Given the description of an element on the screen output the (x, y) to click on. 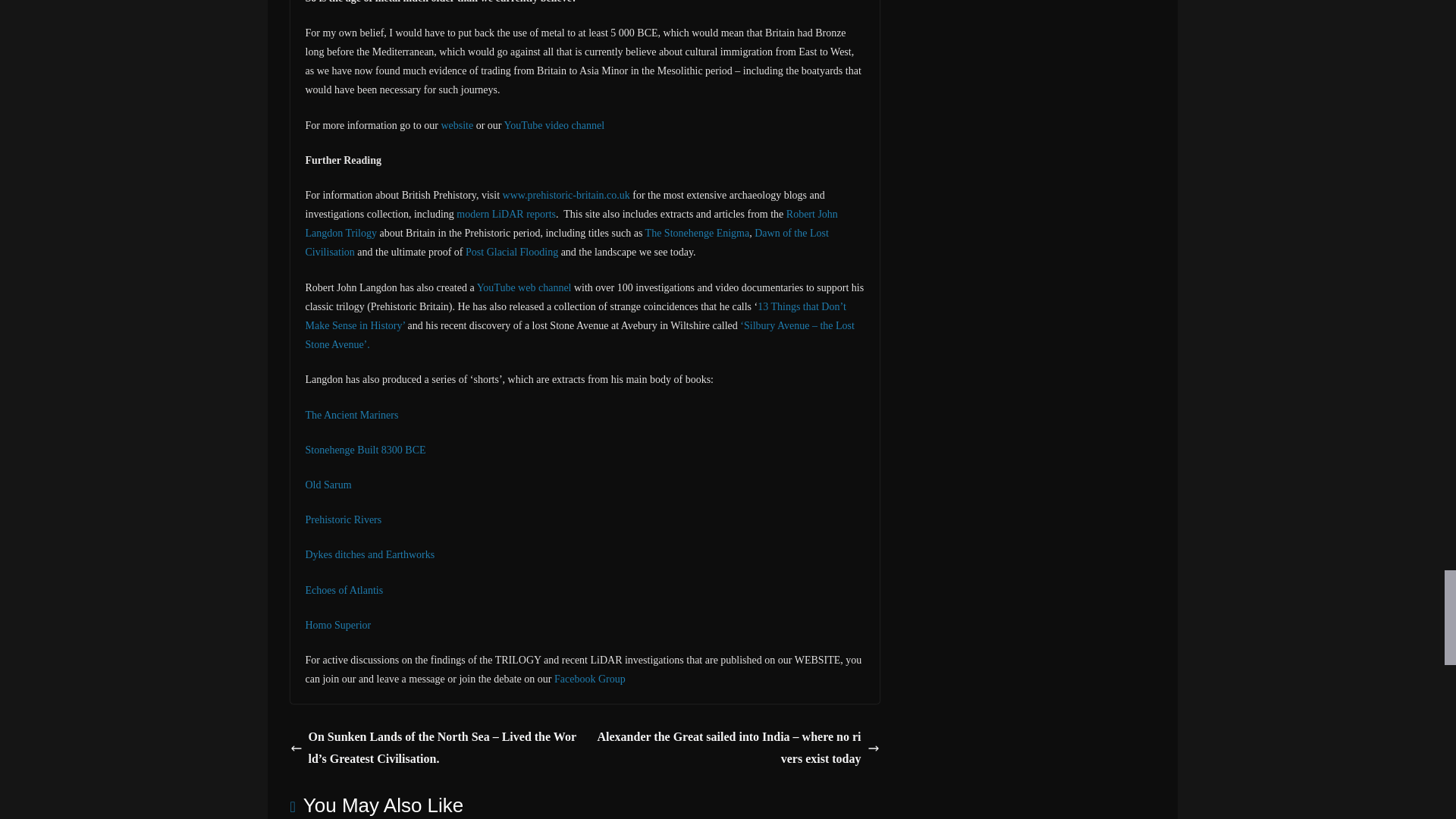
Echoes of Atlantis (343, 590)
Old Sarum (327, 484)
Dawn of the Lost Civilisation (566, 242)
Dykes ditches and Earthworks (368, 554)
The Stonehenge Enigma (697, 233)
Prehistoric Rivers (342, 519)
Facebook Group (590, 678)
YouTube web channel (524, 287)
Homo Superior (337, 624)
www.prehistoric-britain.co.uk (566, 194)
